Given the description of an element on the screen output the (x, y) to click on. 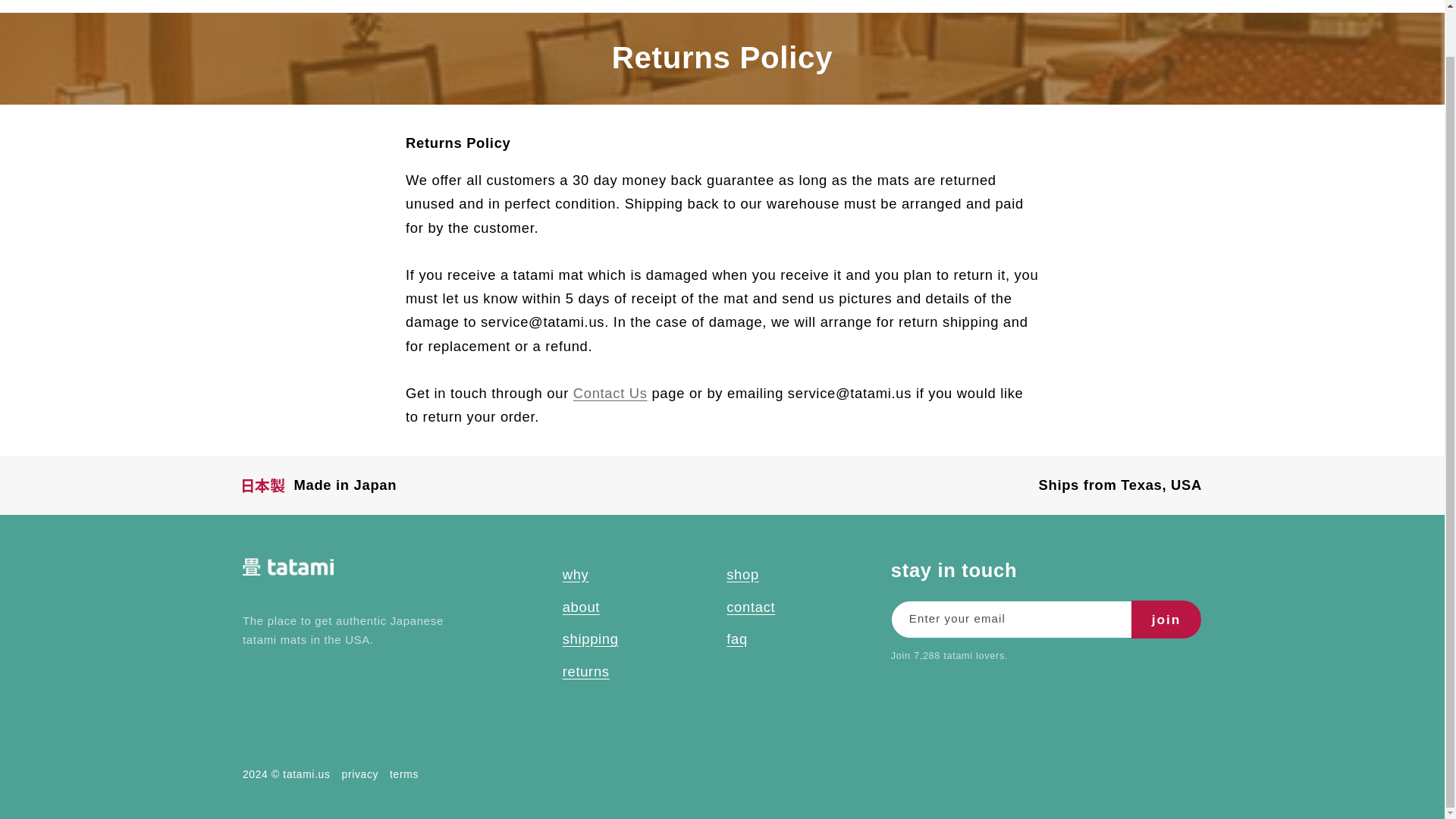
Contact Us (610, 392)
privacy (360, 774)
tatami.us (306, 774)
join (1166, 619)
terms (404, 774)
